Given the description of an element on the screen output the (x, y) to click on. 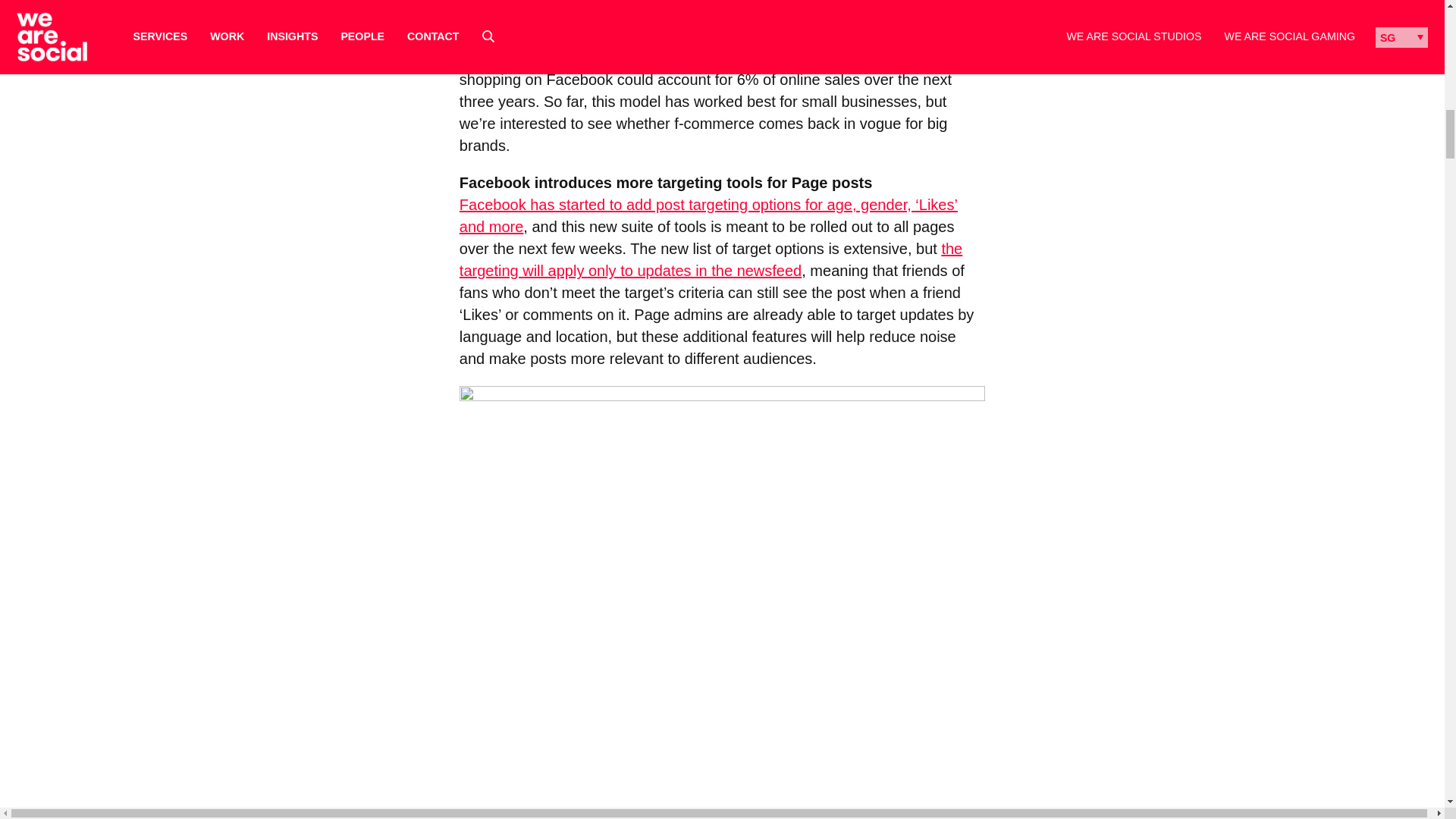
the targeting will apply only to updates in the newsfeed (711, 259)
